Given the description of an element on the screen output the (x, y) to click on. 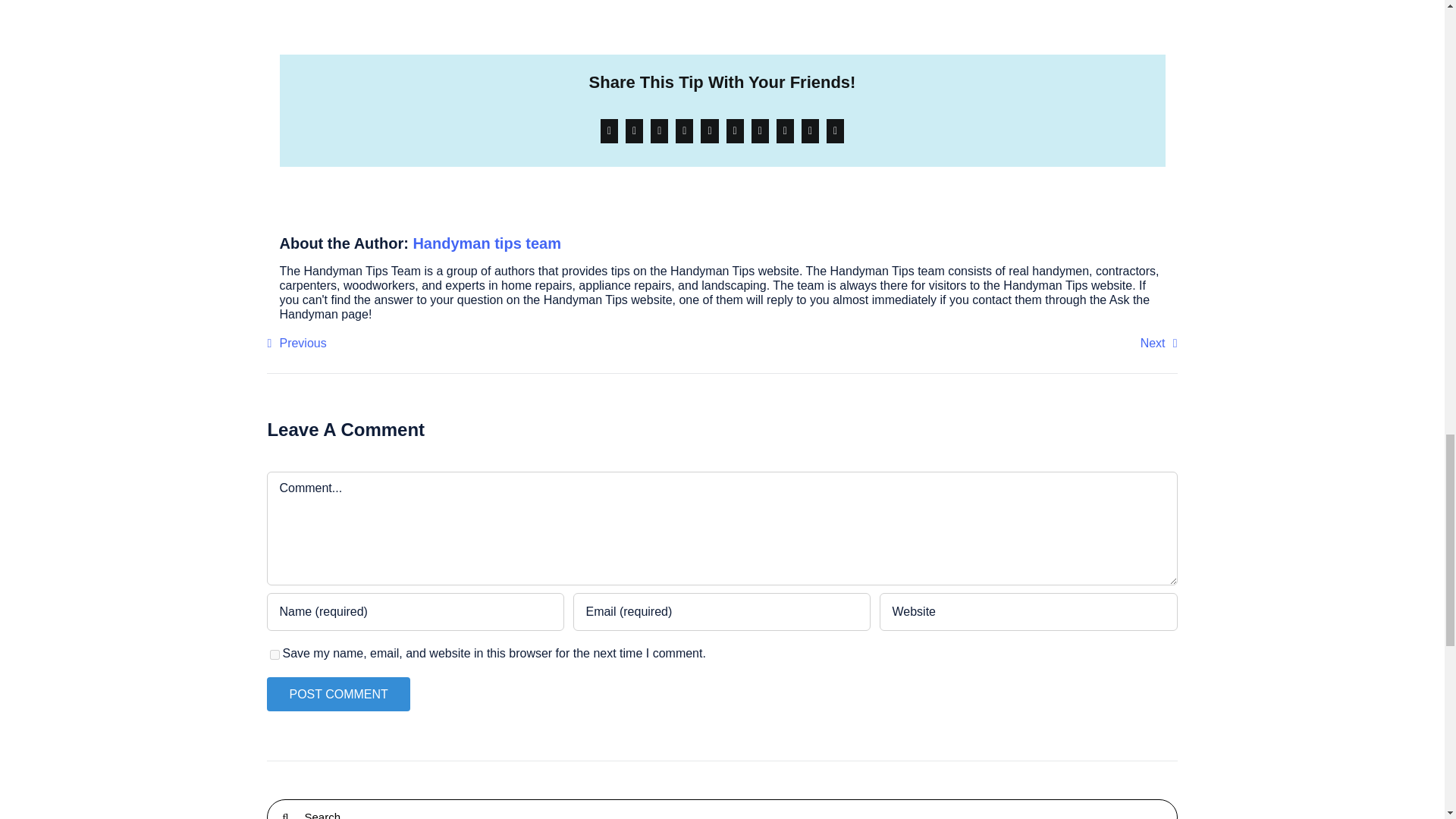
Previous (296, 343)
yes (274, 655)
Post Comment (337, 694)
Next (1158, 343)
Post Comment (337, 694)
Handyman tips team (486, 243)
